Given the description of an element on the screen output the (x, y) to click on. 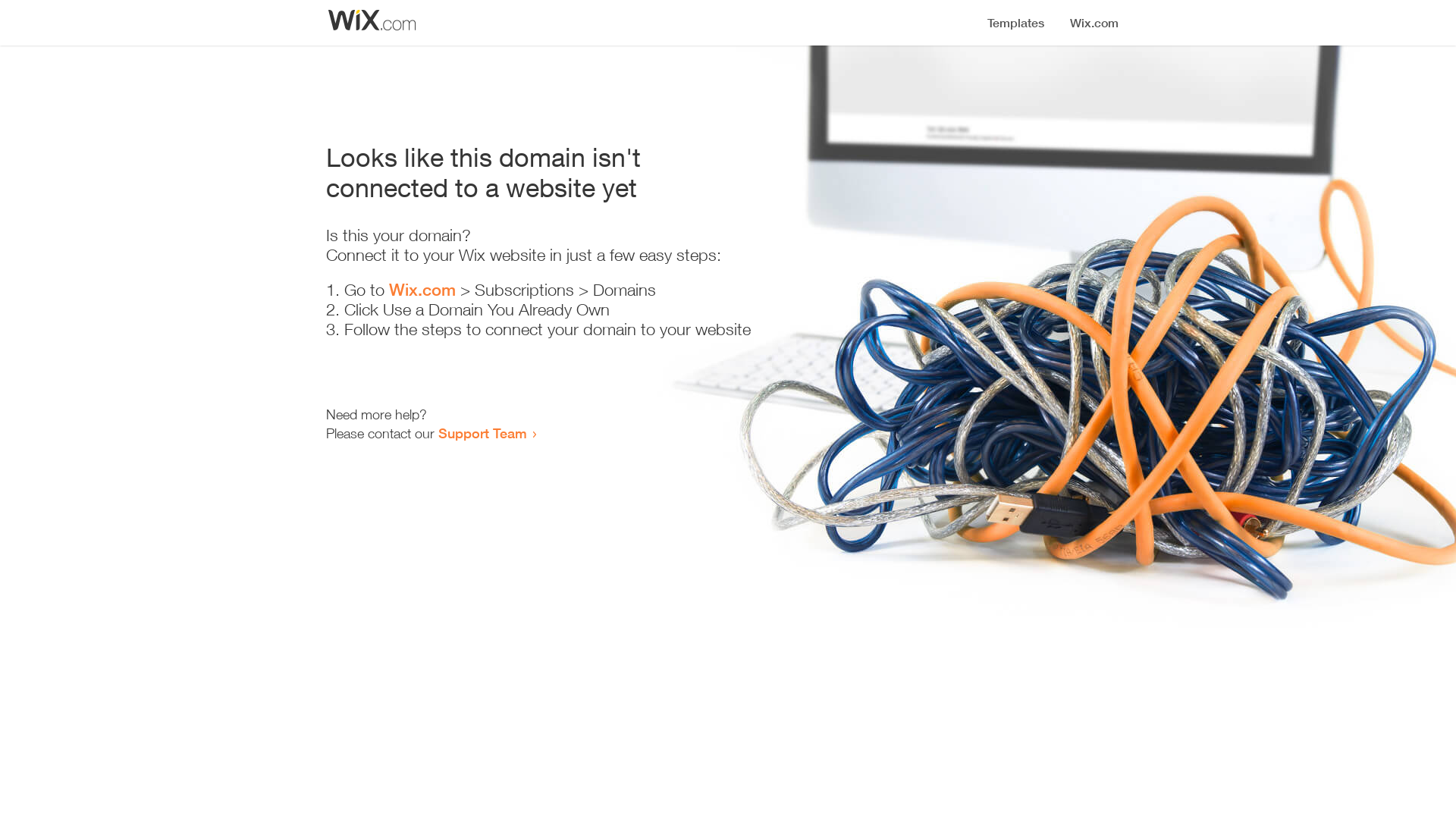
Wix.com Element type: text (422, 289)
Support Team Element type: text (482, 432)
